Given the description of an element on the screen output the (x, y) to click on. 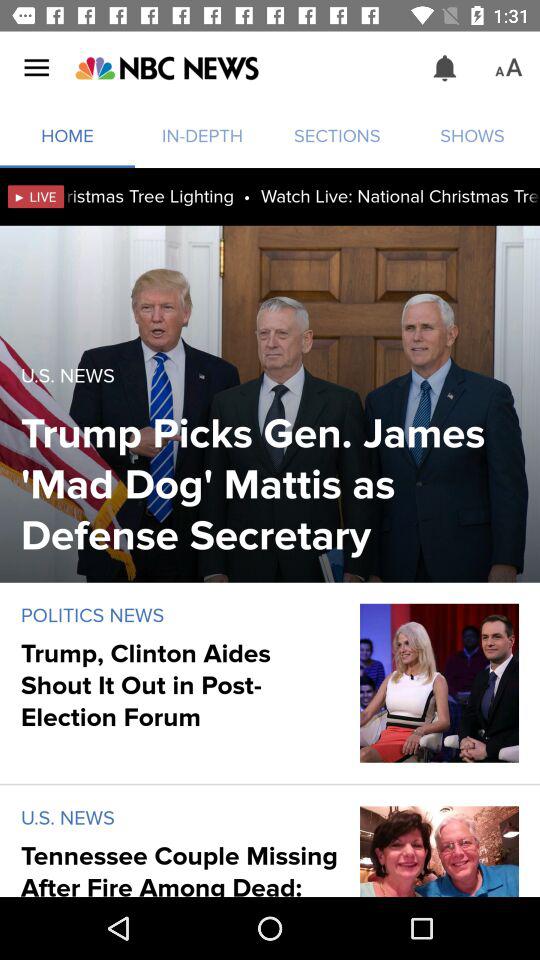
select item next to sections item (444, 67)
